Given the description of an element on the screen output the (x, y) to click on. 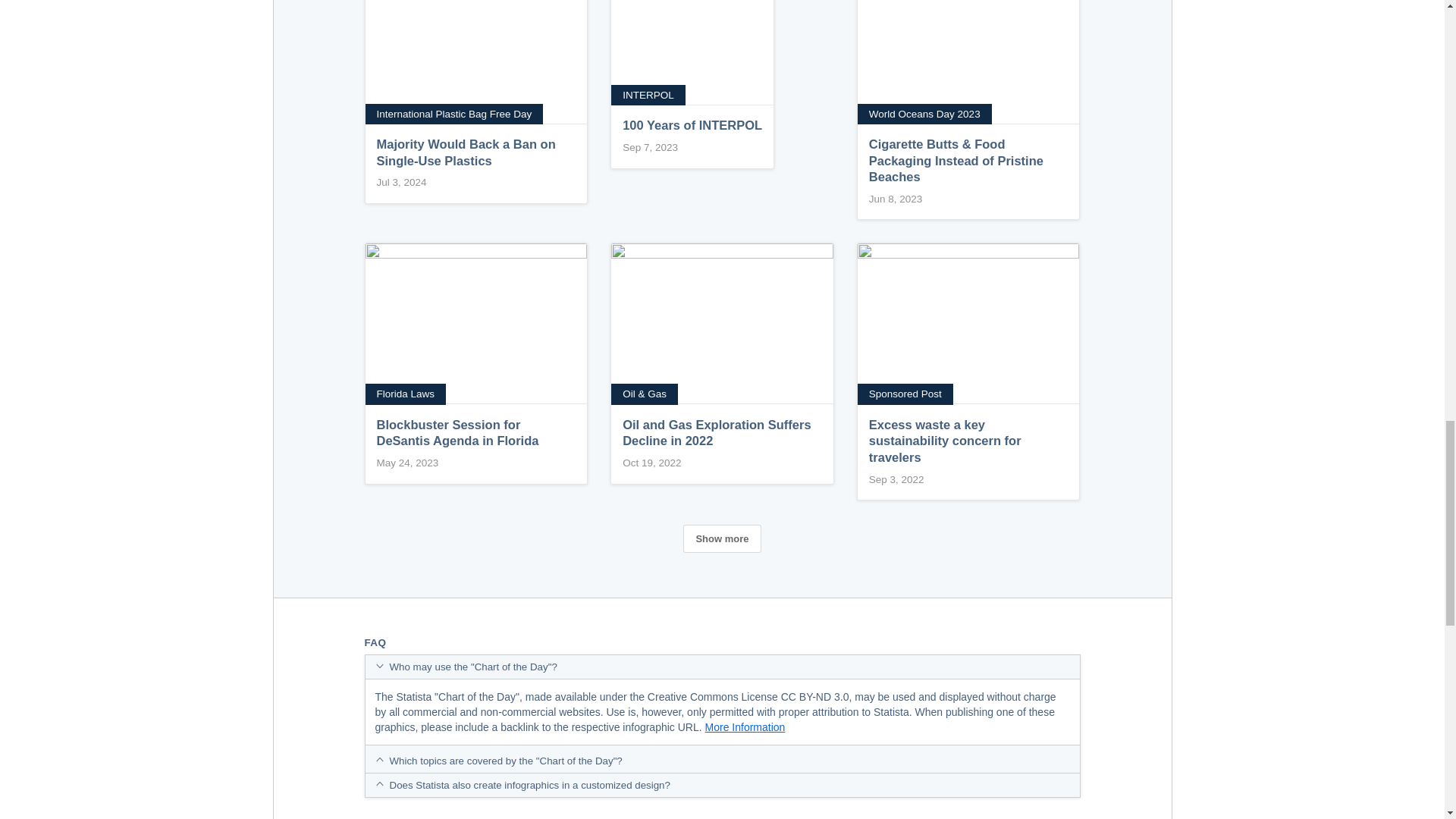
Majority Would Back a Ban on Single-Use Plastics (476, 110)
